Given the description of an element on the screen output the (x, y) to click on. 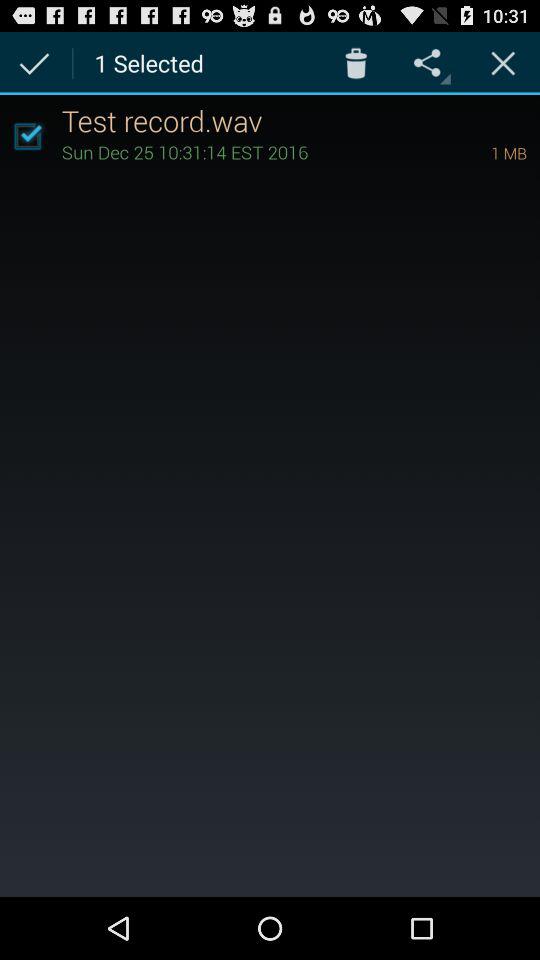
launch the icon to the right of the sun dec 25 item (481, 152)
